Given the description of an element on the screen output the (x, y) to click on. 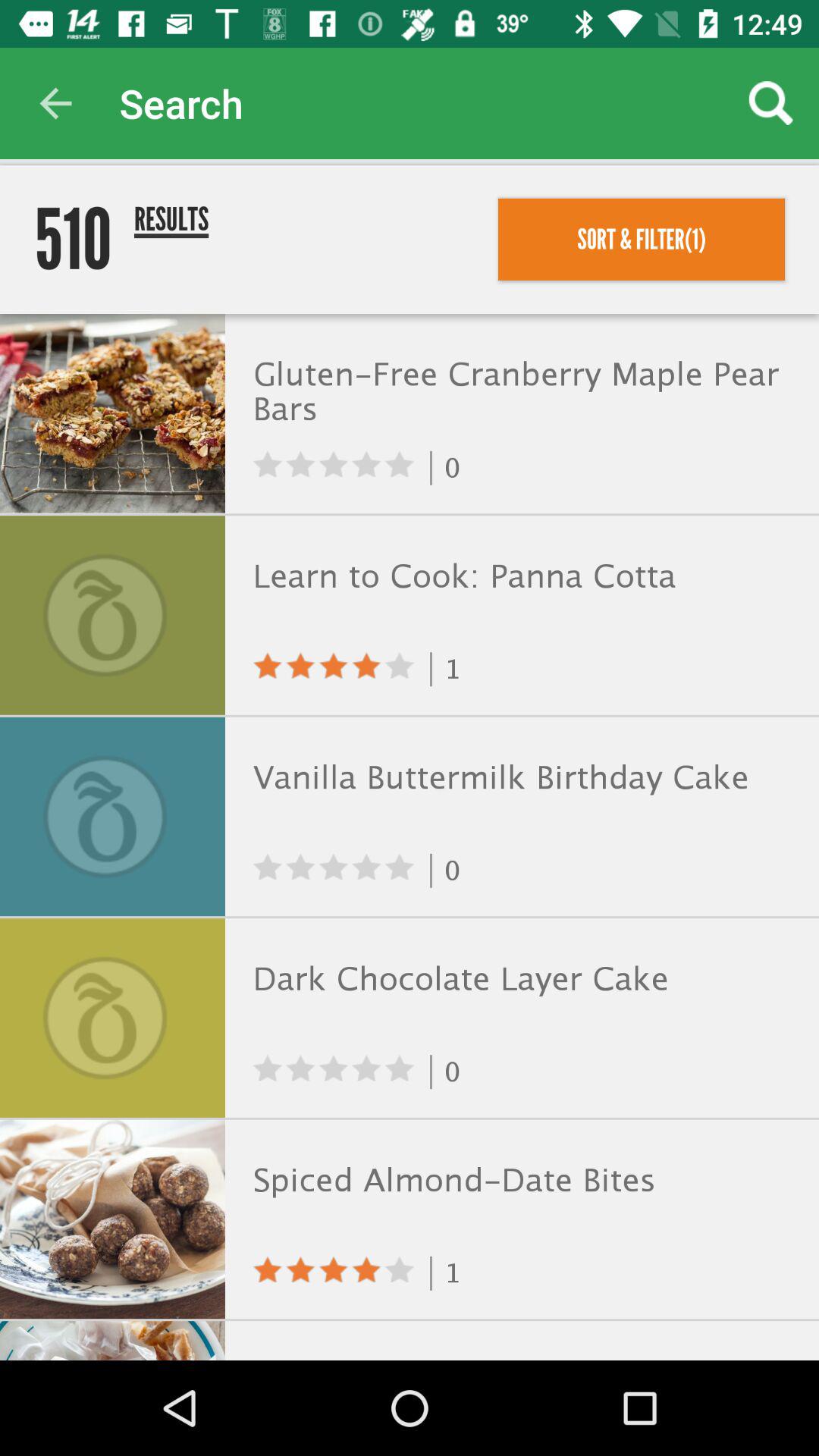
turn off icon above 510 item (55, 103)
